Given the description of an element on the screen output the (x, y) to click on. 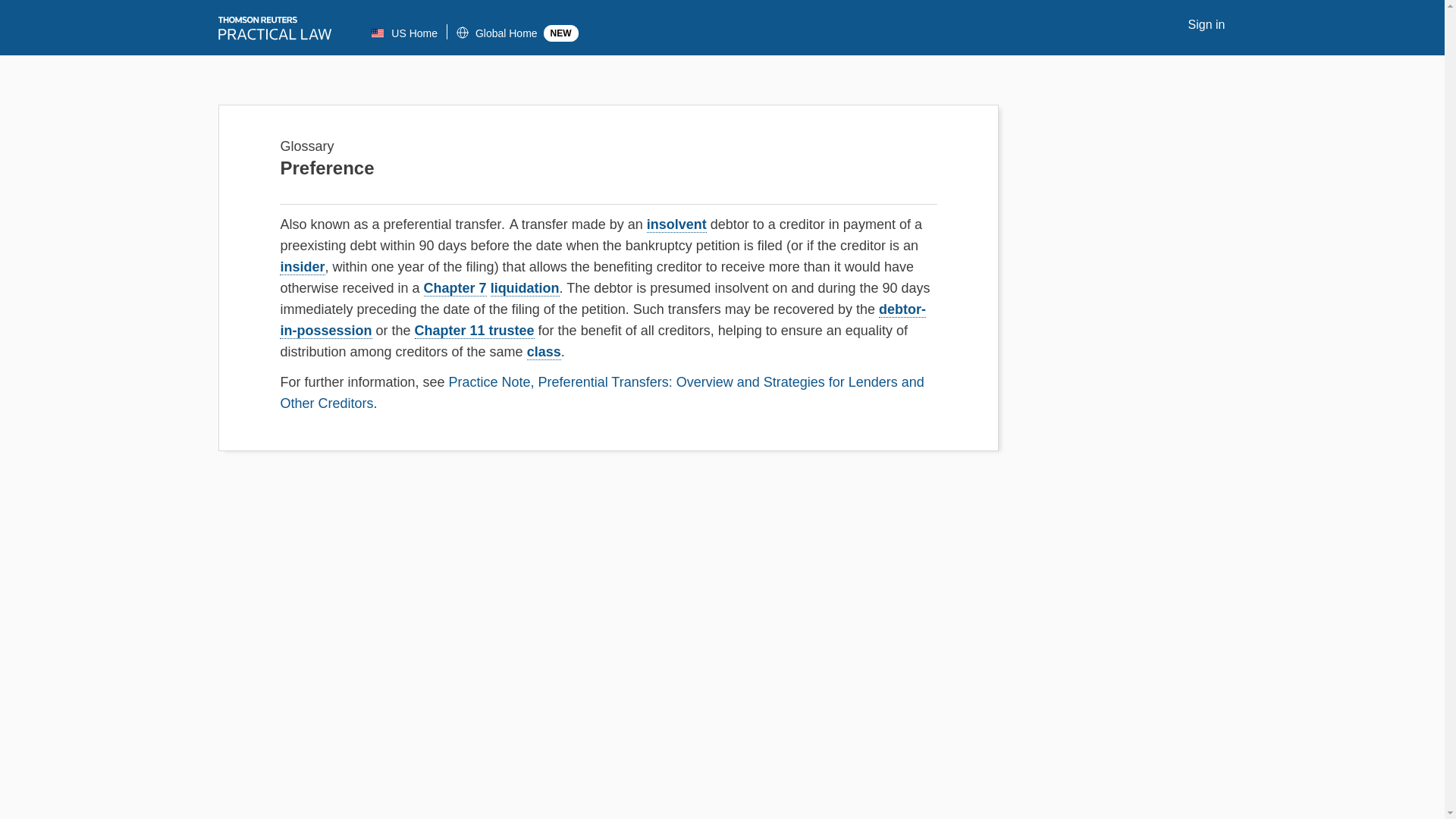
insolvent (676, 224)
Chapter 11 trustee (474, 330)
liquidation (524, 288)
US Home (404, 33)
class (543, 351)
Chapter 7 (454, 288)
insider (301, 267)
Sign in (1205, 25)
debtor-in-possession (601, 320)
